Given the description of an element on the screen output the (x, y) to click on. 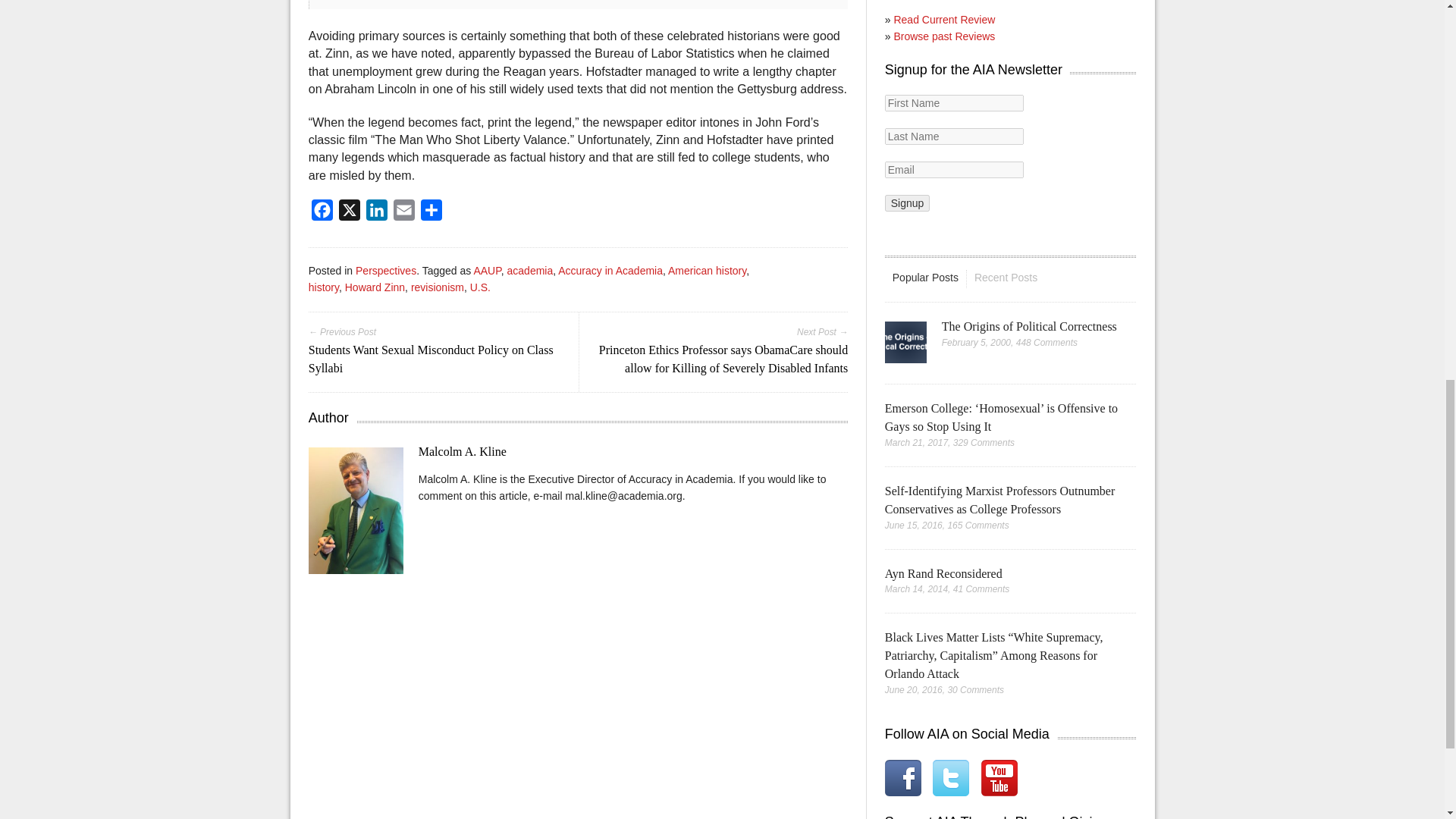
The Origins of Political Correctness (1029, 326)
Signup (907, 202)
Ayn Rand Reconsidered (944, 573)
The Origins of Political Correctness (1029, 326)
Popular Posts (925, 277)
revisionism (437, 287)
Email (403, 213)
Recent Posts (1005, 277)
Email (403, 213)
academia (529, 270)
LinkedIn (376, 213)
LinkedIn (376, 213)
X (349, 213)
history (323, 287)
Facebook (322, 213)
